Given the description of an element on the screen output the (x, y) to click on. 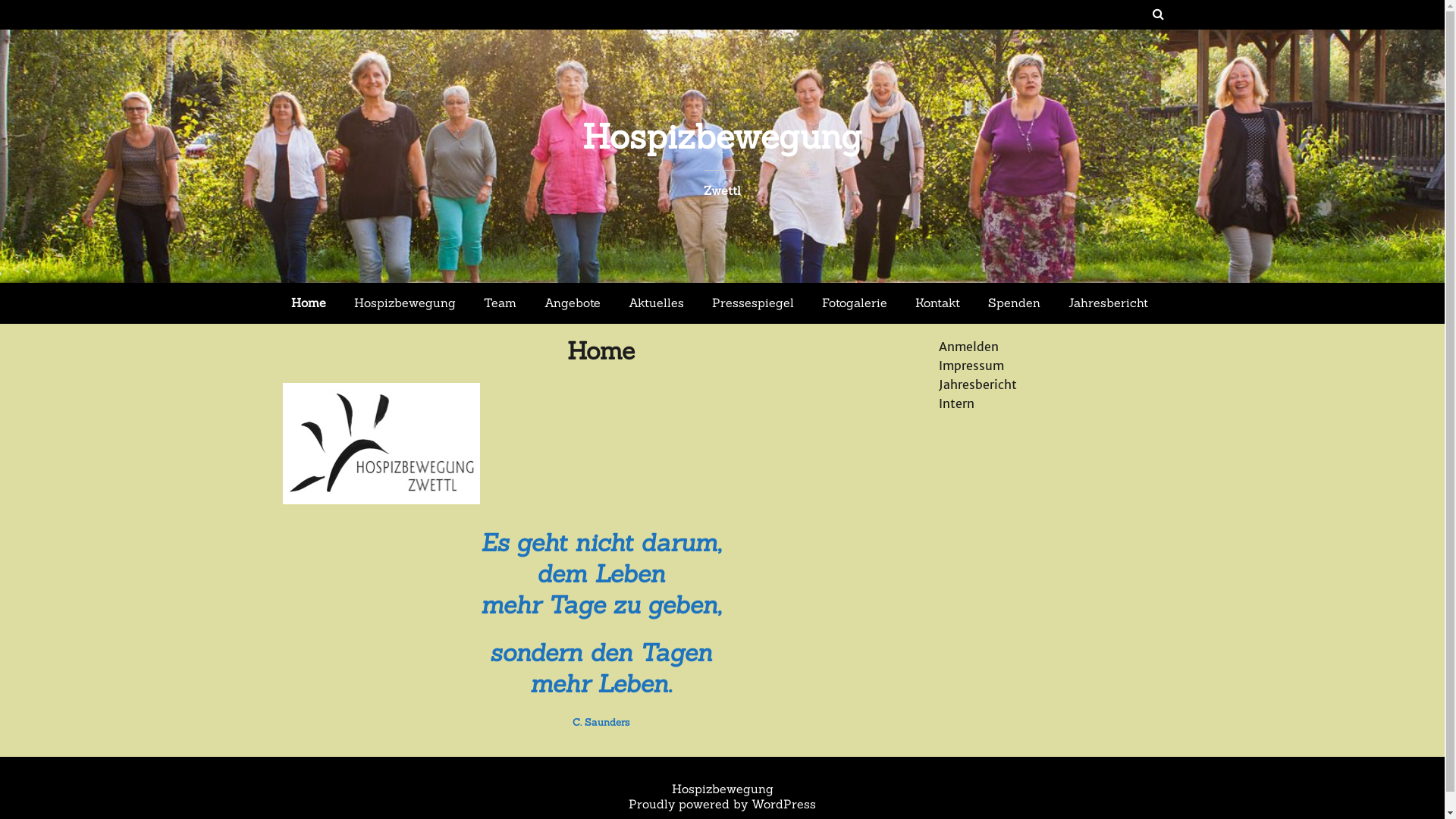
Hospizbewegung Element type: text (722, 135)
Hospizbewegung Element type: text (404, 303)
Angebote Element type: text (572, 303)
Aktuelles Element type: text (656, 303)
Impressum Element type: text (971, 365)
Team Element type: text (499, 303)
Pressespiegel Element type: text (752, 303)
Kontakt Element type: text (937, 303)
Hospizbewegung Element type: text (722, 788)
Proudly powered by WordPress Element type: text (721, 803)
Jahresbericht Element type: text (977, 384)
Home Element type: text (308, 303)
Home Element type: text (600, 350)
Anmelden Element type: text (968, 346)
Jahresbericht Element type: text (1108, 303)
Intern Element type: text (956, 403)
Spenden Element type: text (1013, 303)
Fotogalerie Element type: text (854, 303)
